Given the description of an element on the screen output the (x, y) to click on. 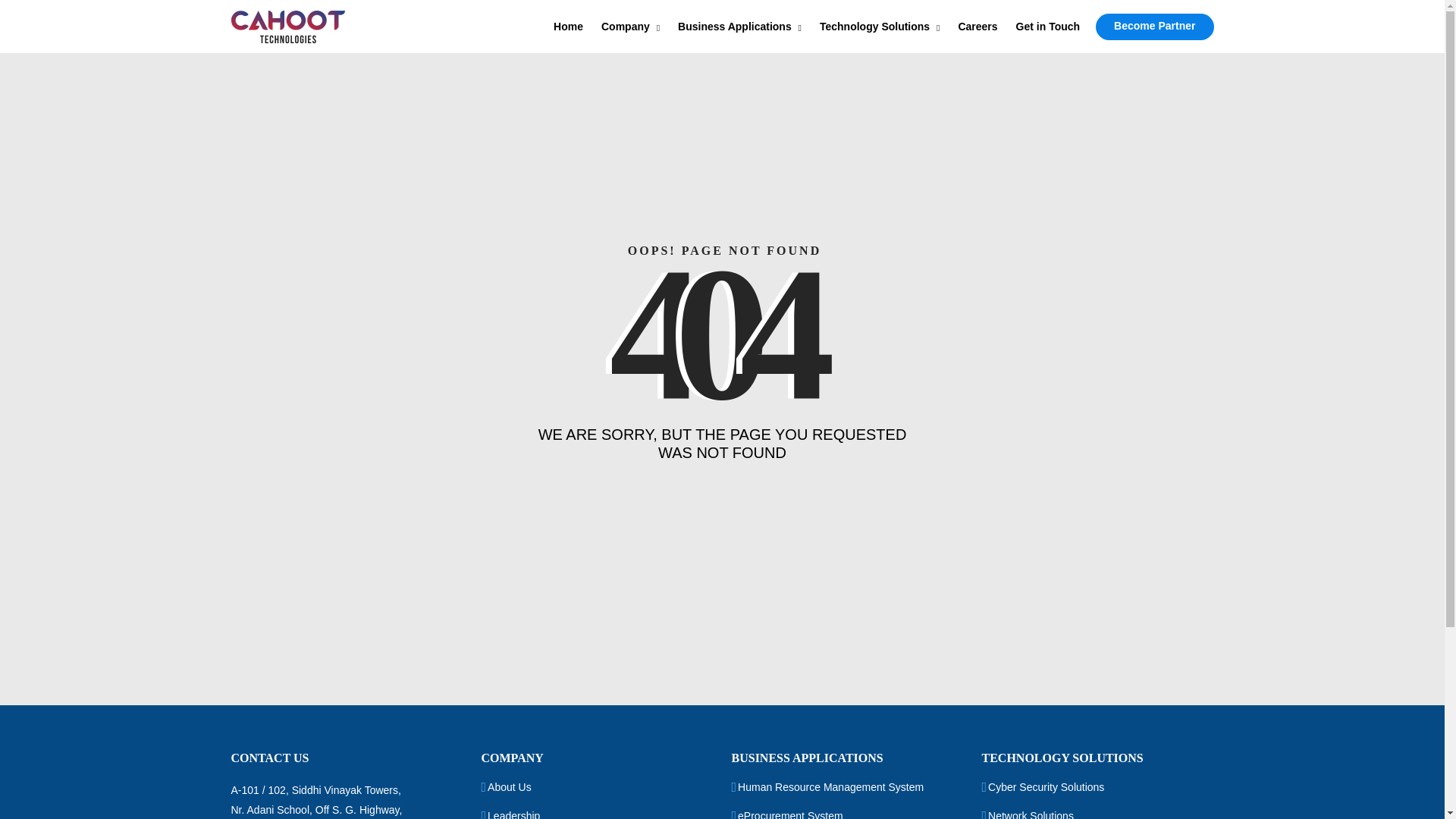
eProcurement System (790, 814)
Company (630, 26)
Get in Touch (1048, 26)
Business Applications (739, 26)
Technology Solutions (879, 26)
Home (568, 26)
Cyber Security Solutions (1045, 787)
Human Resource Management System (830, 787)
Cahoot (286, 26)
Network Solutions (1031, 814)
